Given the description of an element on the screen output the (x, y) to click on. 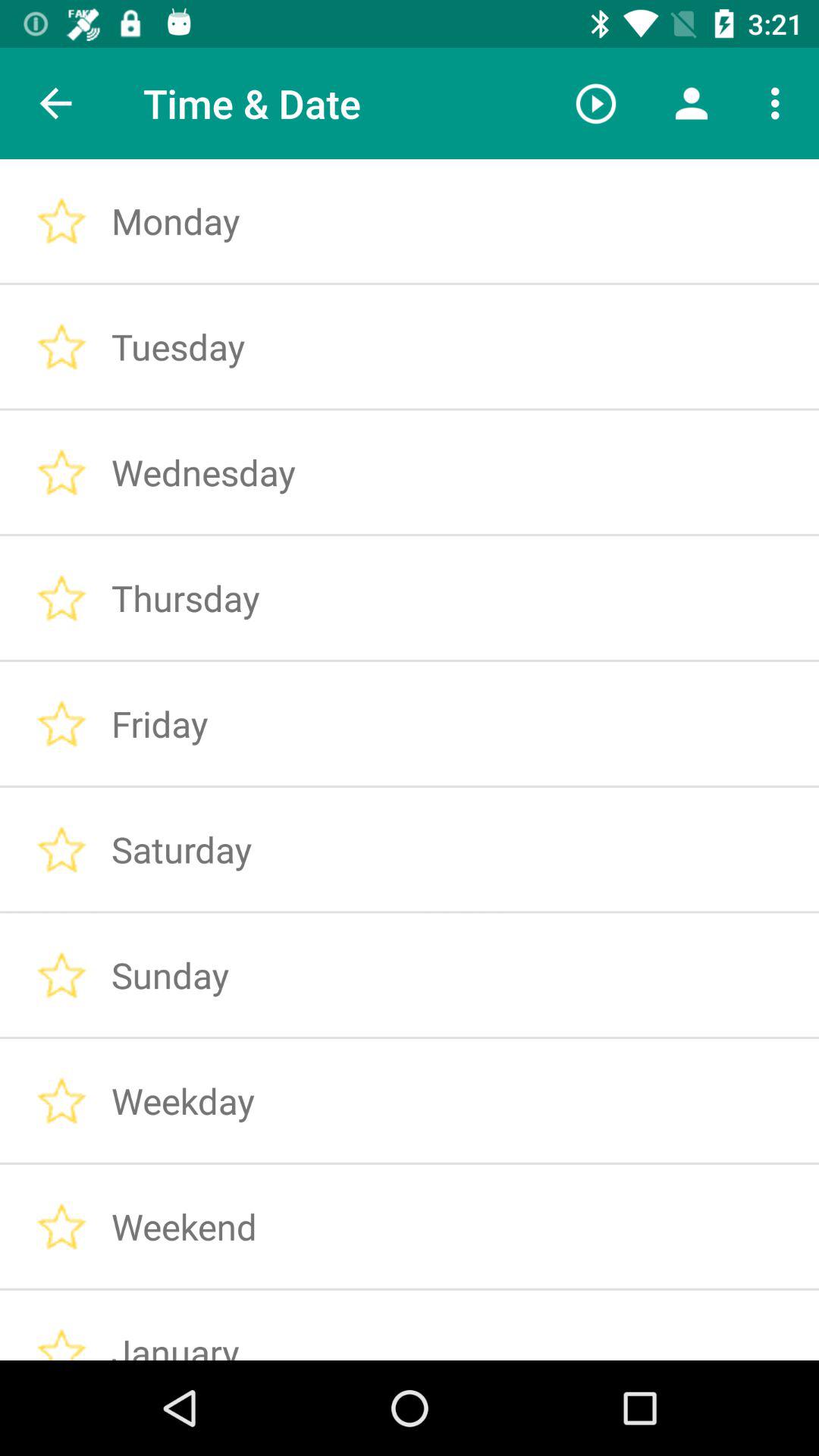
choose the icon to the left of the time & date item (55, 103)
